Given the description of an element on the screen output the (x, y) to click on. 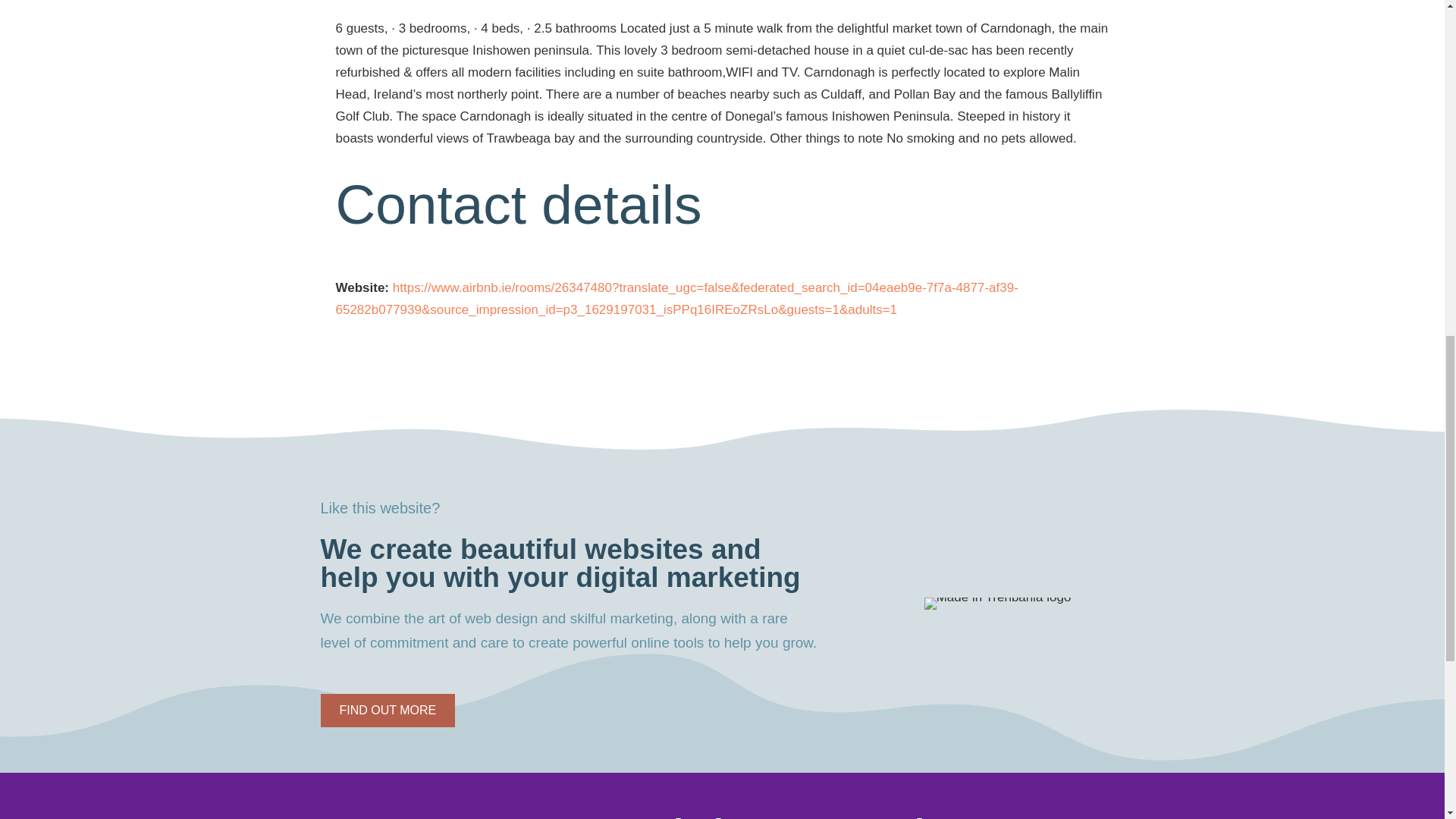
Click Here (387, 710)
FIND OUT MORE (387, 710)
trenbania-logo-col (997, 603)
